Given the description of an element on the screen output the (x, y) to click on. 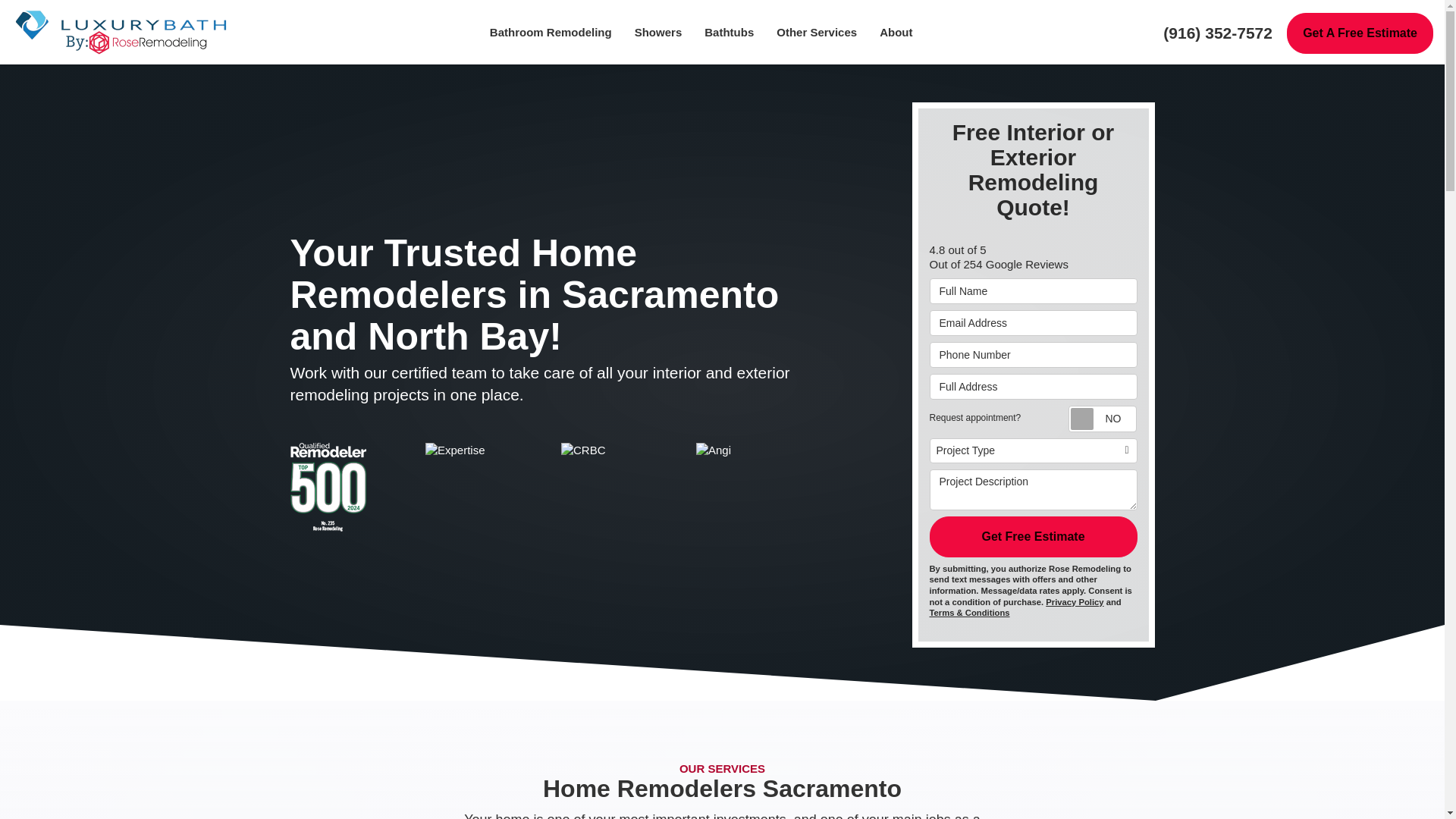
Showers (658, 32)
Other Services (816, 32)
Privacy Policy (1074, 601)
Project Type (1033, 451)
Request appointment? (1101, 418)
Get A Free Estimate (1359, 33)
Get A Free Estimate (1359, 33)
Bathroom Remodeling (551, 32)
Get Free Estimate (1033, 536)
Bathtubs (729, 32)
